Given the description of an element on the screen output the (x, y) to click on. 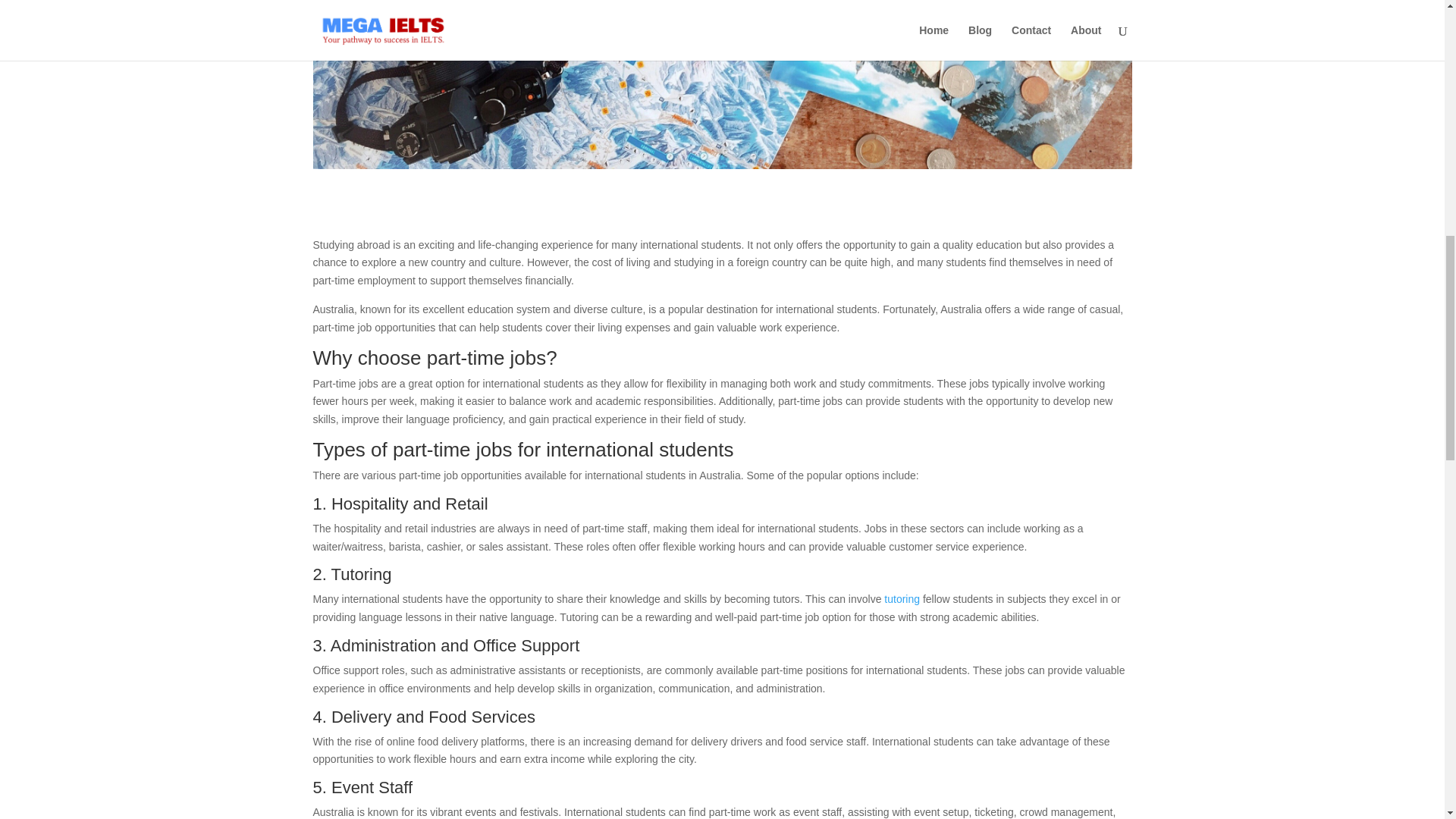
tutoring (901, 598)
